Given the description of an element on the screen output the (x, y) to click on. 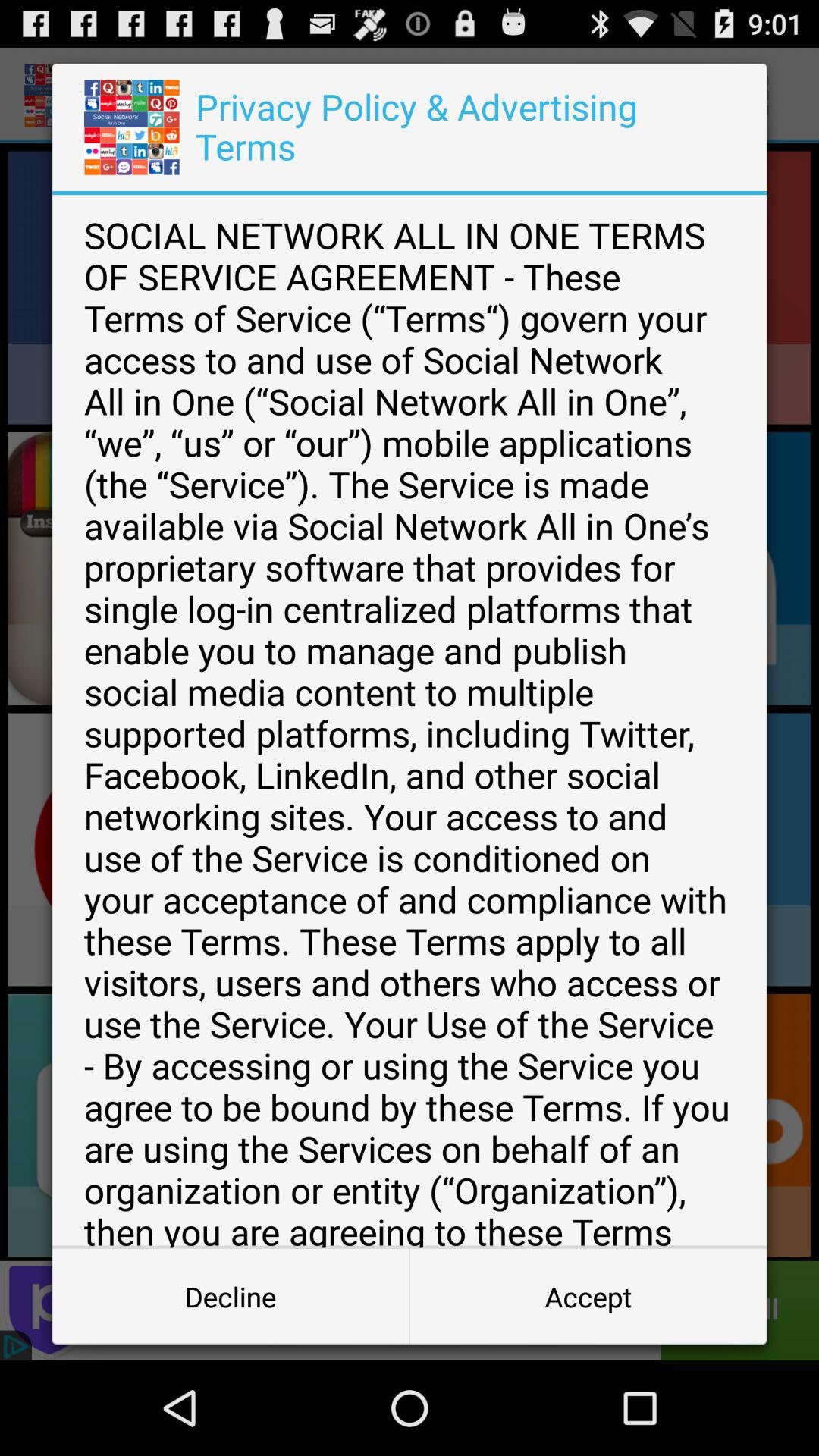
choose icon at the bottom right corner (588, 1296)
